Given the description of an element on the screen output the (x, y) to click on. 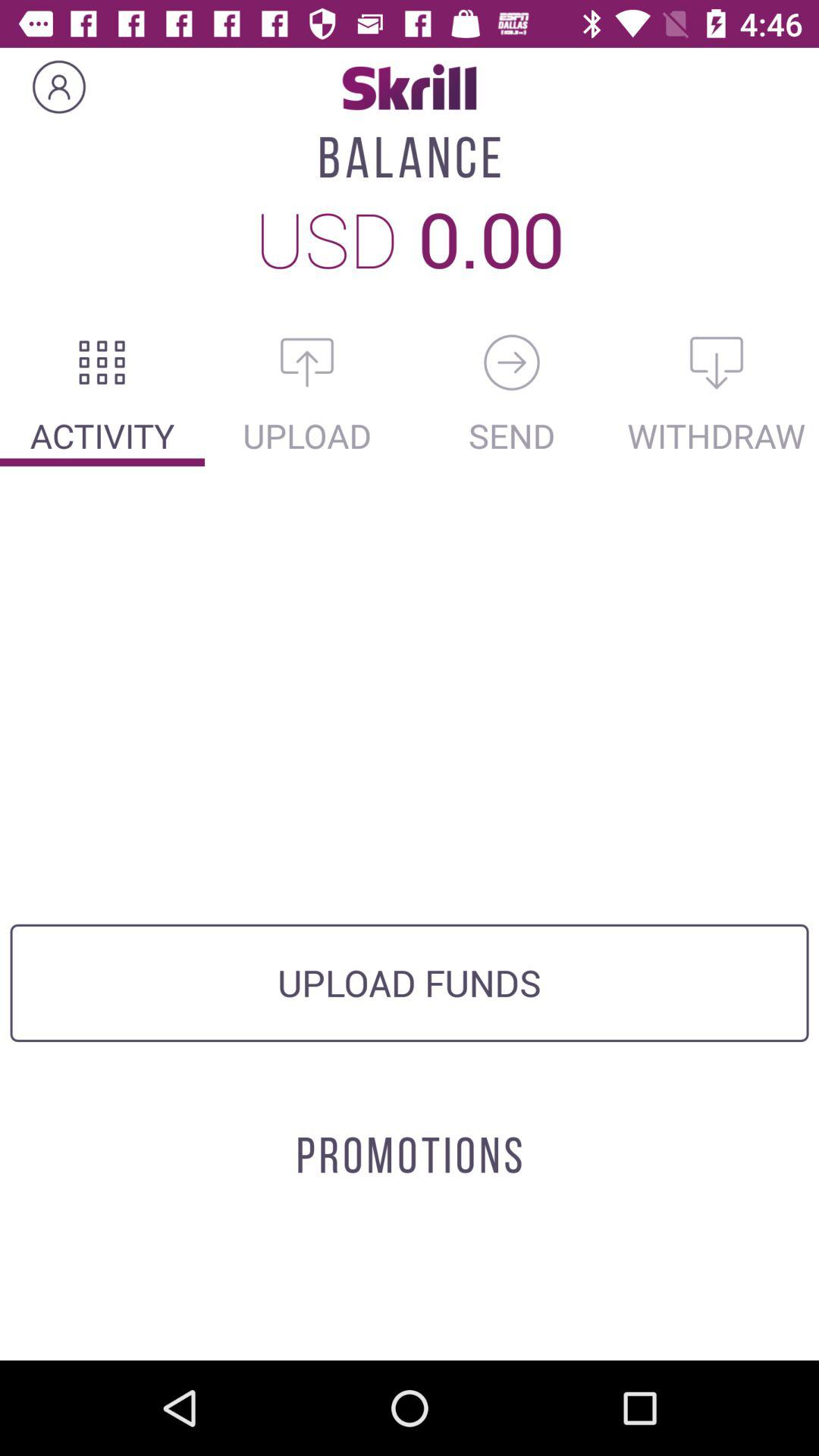
upload button (306, 362)
